Given the description of an element on the screen output the (x, y) to click on. 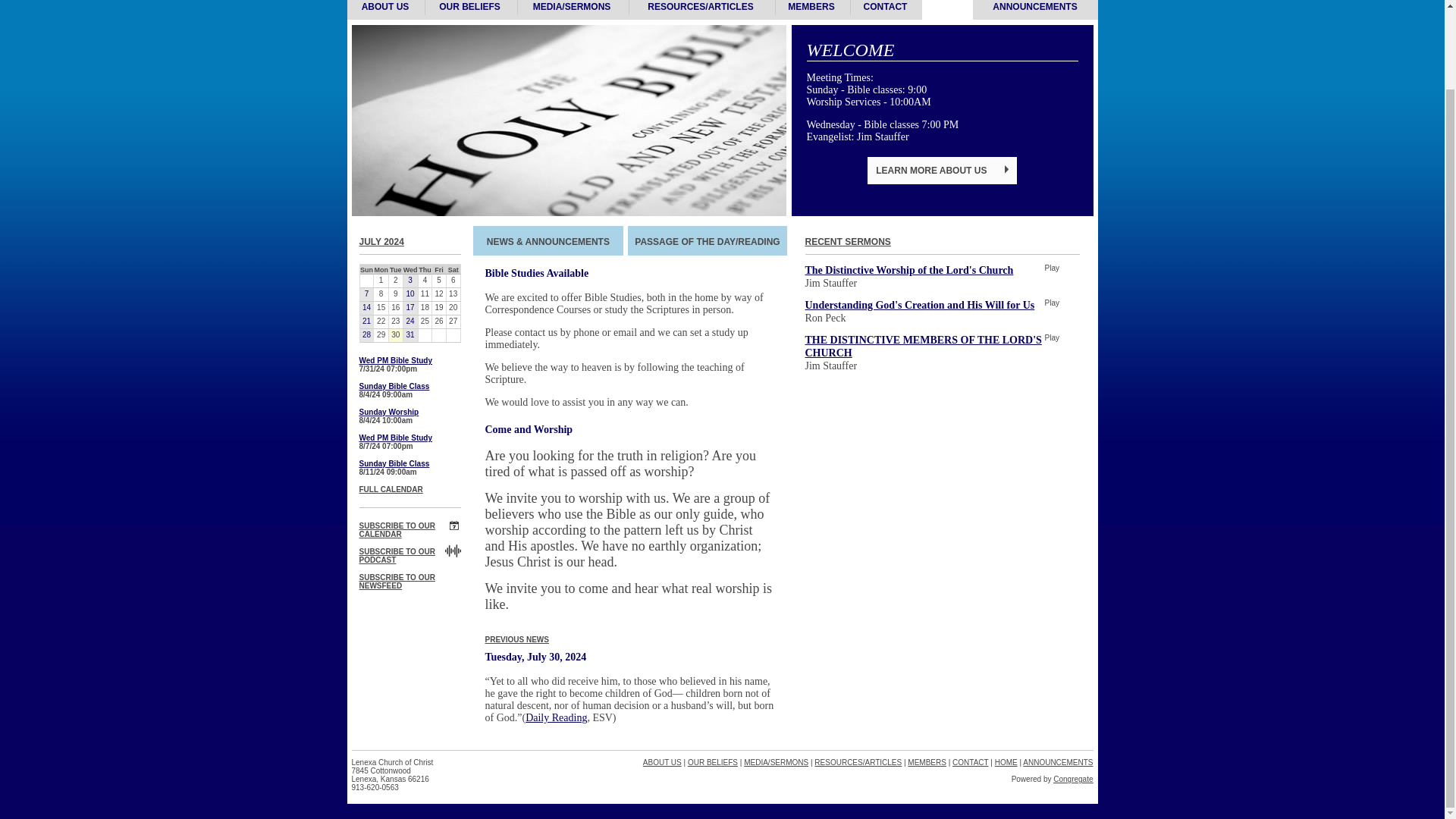
LEARN MORE ABOUT US (941, 170)
HOME (946, 10)
MEMBERS (810, 10)
14 (365, 308)
10 (410, 294)
17 (410, 308)
21 (365, 321)
CONTACT (884, 10)
JULY 2024 (381, 241)
OUR BELIEFS (469, 10)
ABOUT US (385, 10)
24 (410, 321)
28 (365, 335)
Wed PM Bible Study (395, 360)
ANNOUNCEMENTS (1034, 10)
